Given the description of an element on the screen output the (x, y) to click on. 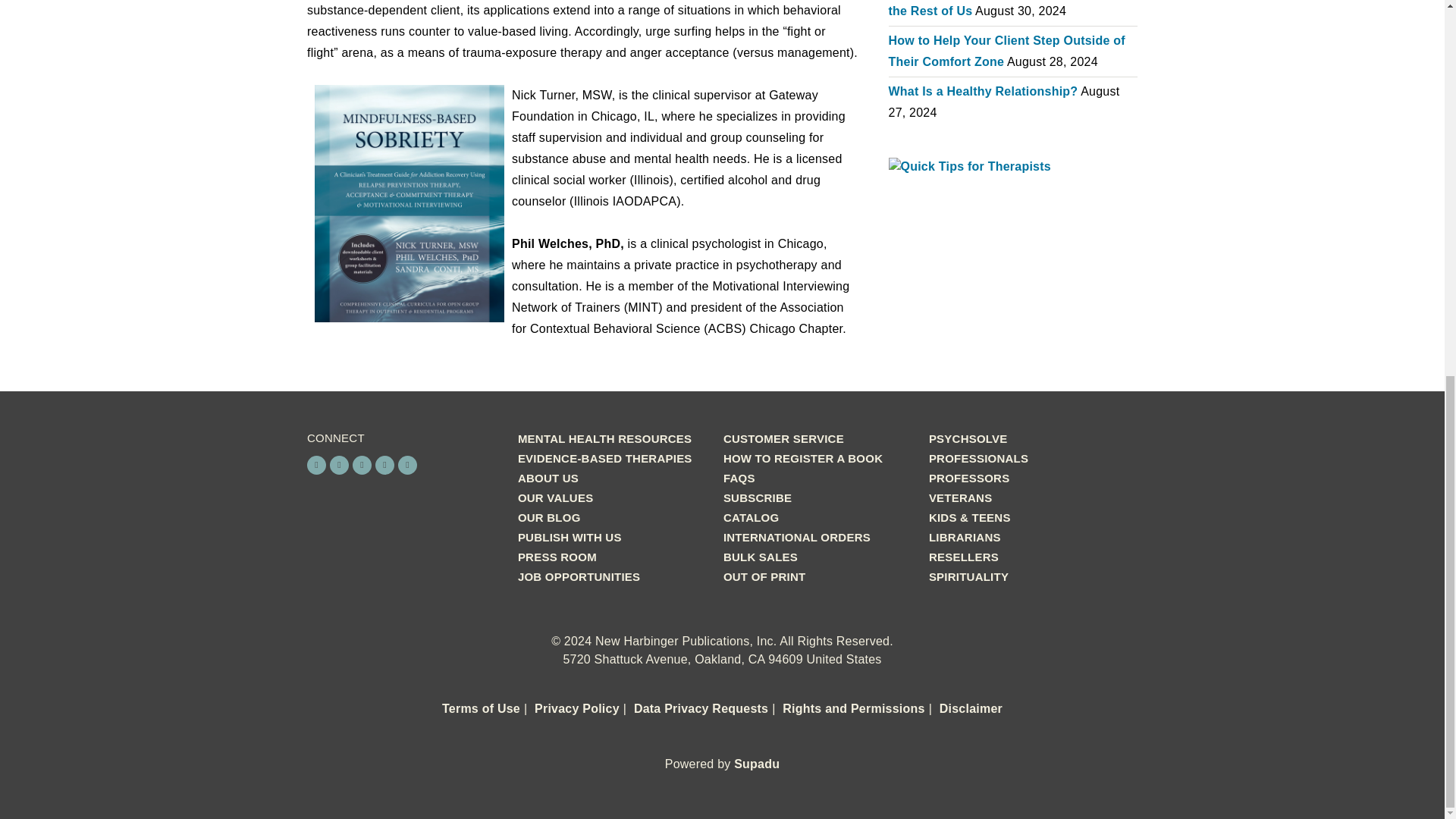
Follow us on Instagram (339, 465)
Follow us on Facebook (316, 465)
Follow us on YouTube (406, 465)
Follow us on LinkedIn (384, 465)
